Given the description of an element on the screen output the (x, y) to click on. 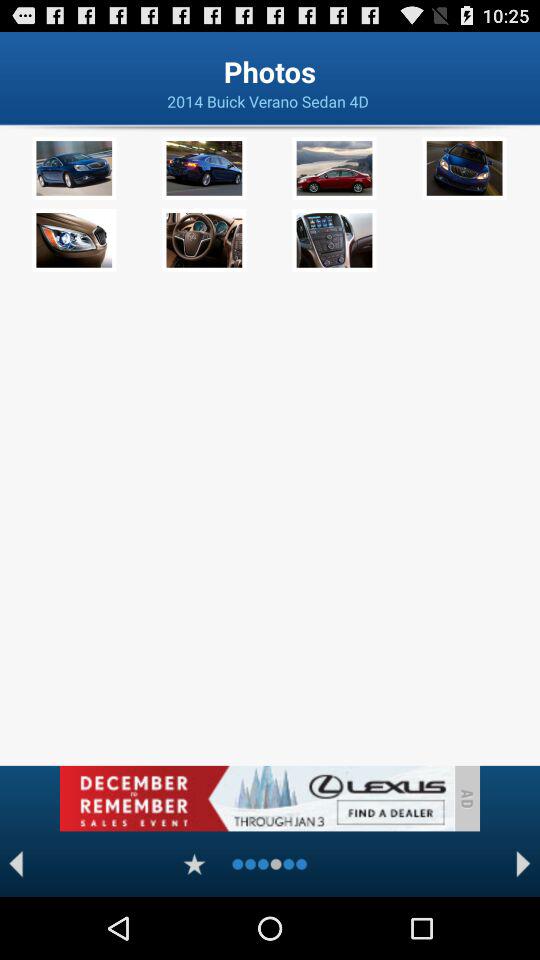
ratings (194, 864)
